Given the description of an element on the screen output the (x, y) to click on. 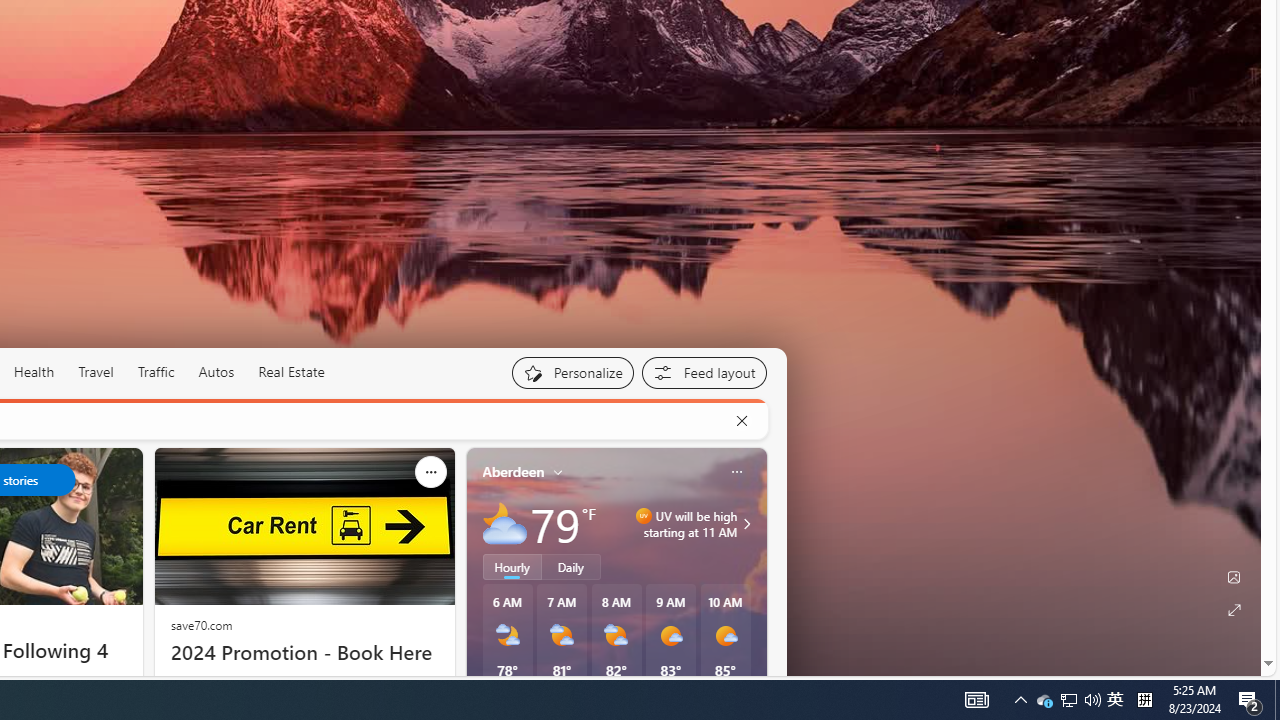
Personalize your feed" (571, 372)
UV will be high starting at 11 AM (744, 523)
Mostly cloudy (504, 523)
Expand background (1233, 610)
Feed settings (703, 372)
Traffic (155, 371)
Traffic (155, 372)
Autos (215, 371)
My location (558, 471)
Real Estate (290, 372)
